Given the description of an element on the screen output the (x, y) to click on. 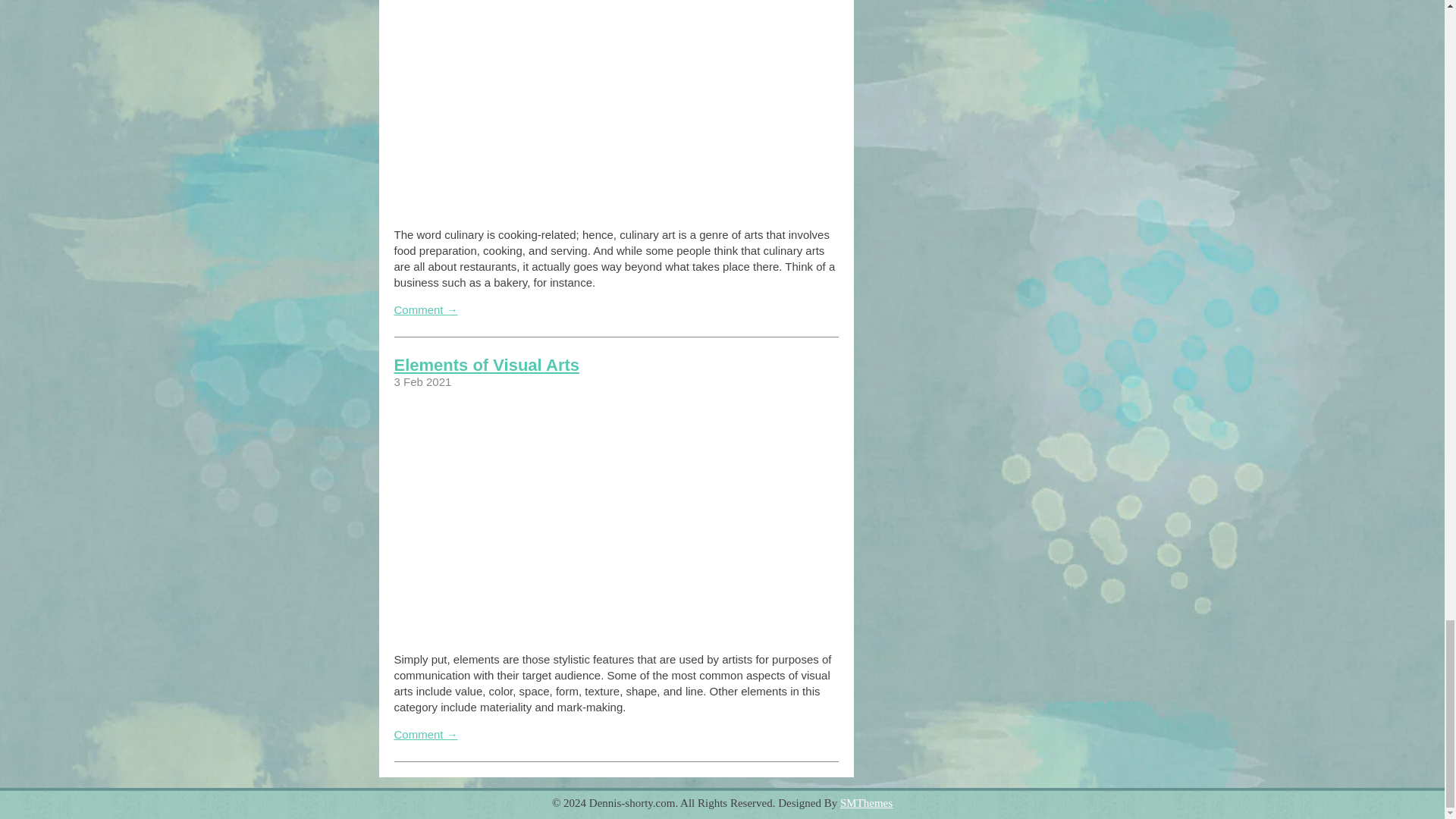
Elements of Visual Arts (486, 364)
SMThemes (866, 802)
